Given the description of an element on the screen output the (x, y) to click on. 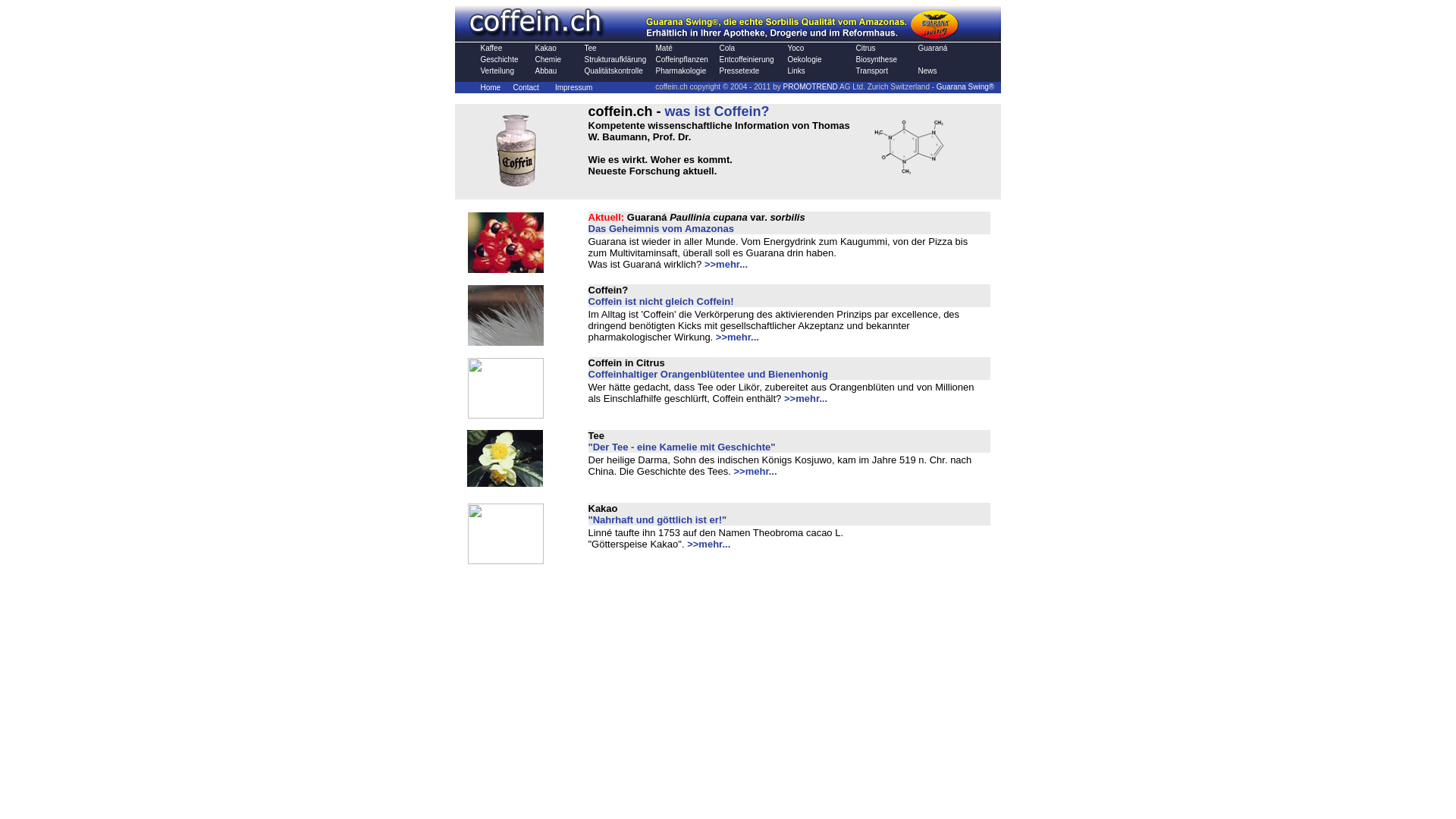
Cola Element type: text (726, 47)
Contact Element type: text (525, 87)
>>mehr... Element type: text (805, 398)
Verteilung Element type: text (497, 70)
Impressum Element type: text (573, 87)
Kaffee Element type: text (491, 47)
Tee Element type: text (589, 47)
>>mehr... Element type: text (708, 543)
Oekologie Element type: text (804, 59)
PROMOTREND Element type: text (810, 85)
Transport Element type: text (871, 70)
Coffeinpflanzen Element type: text (681, 59)
>>mehr... Element type: text (737, 336)
>>mehr... Element type: text (754, 470)
Abbau Element type: text (546, 70)
Home Element type: text (490, 87)
Yoco Element type: text (795, 47)
Links Element type: text (795, 70)
Entcoffeinierung Element type: text (745, 59)
Pressetexte Element type: text (738, 70)
Kakao Element type: text (545, 47)
Coffein in Tee Element type: hover (504, 482)
Tee
"Der Tee - eine Kamelie mit Geschichte" Element type: text (681, 440)
Chemie Element type: text (548, 59)
Coffein?
Coffein ist nicht gleich Coffein! Element type: text (661, 294)
News Element type: text (926, 70)
Citrus Element type: text (865, 47)
Pharmakologie Element type: text (680, 70)
Biosynthese Element type: text (875, 59)
Geschichte Element type: text (499, 59)
>>mehr... Element type: text (725, 263)
